Given the description of an element on the screen output the (x, y) to click on. 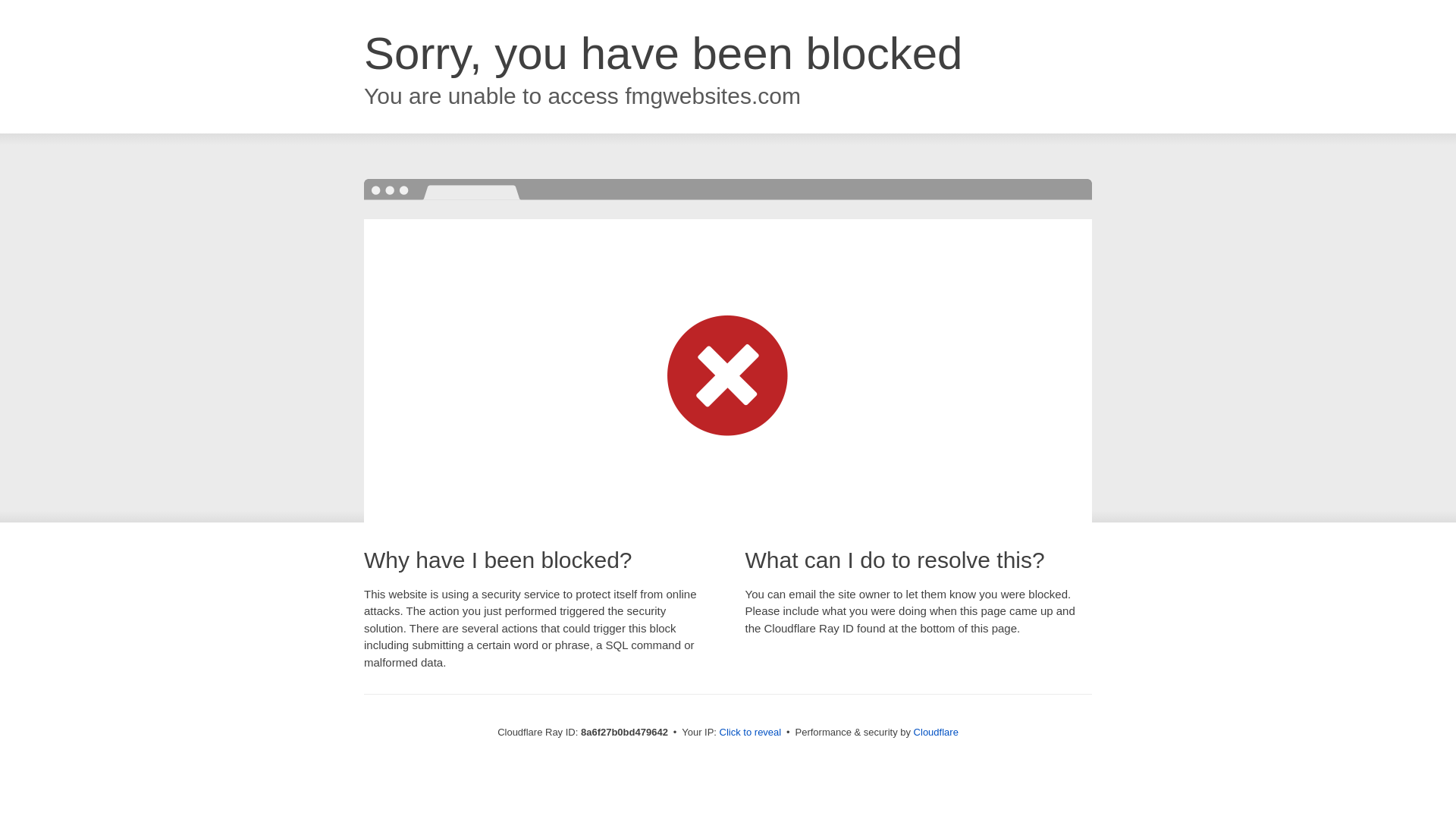
Click to reveal (750, 732)
Cloudflare (936, 731)
